Given the description of an element on the screen output the (x, y) to click on. 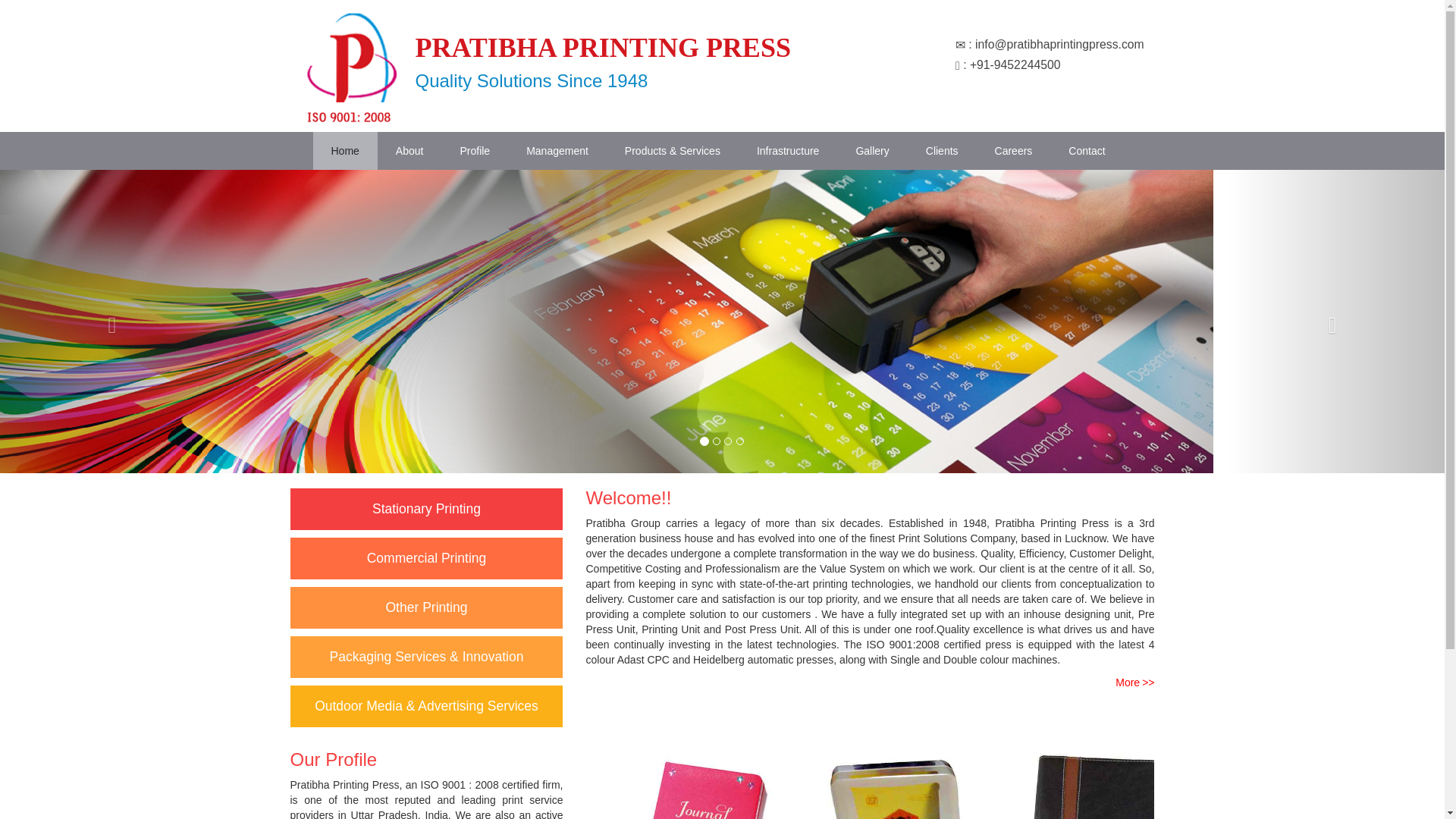
Gallery (872, 150)
Careers (1013, 150)
Infrastructure (787, 150)
About (409, 150)
Clients (941, 150)
Other Printing (426, 607)
Management (557, 150)
More (1134, 682)
Commercial Printing (426, 557)
Profile (474, 150)
